Given the description of an element on the screen output the (x, y) to click on. 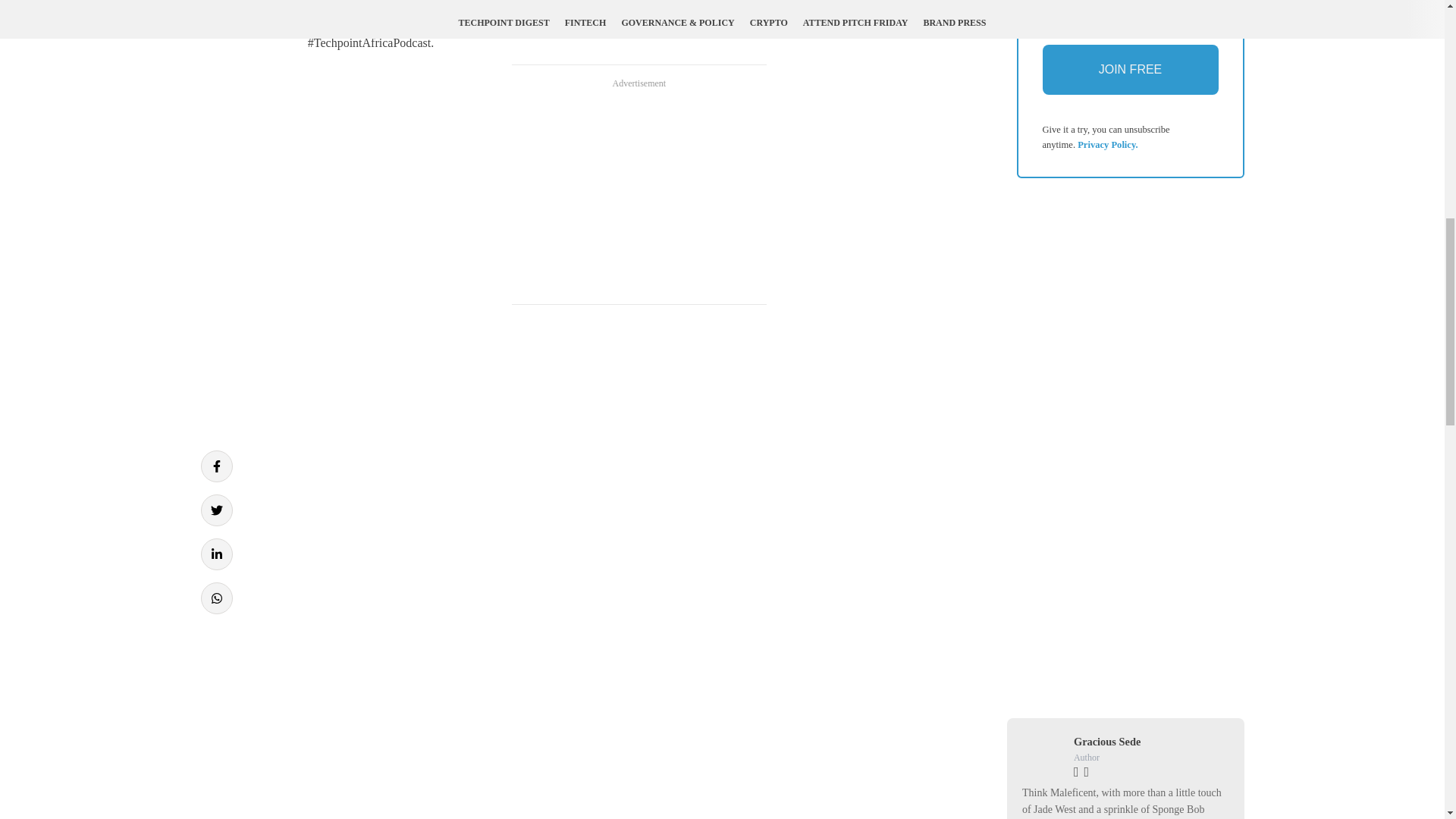
Spotify (692, 5)
Gracious Sede (1107, 741)
Google Podcasts (547, 5)
Apple Podcasts (631, 5)
Privacy Policy. (1107, 144)
JOIN FREE (1129, 70)
YouTube (738, 5)
